Given the description of an element on the screen output the (x, y) to click on. 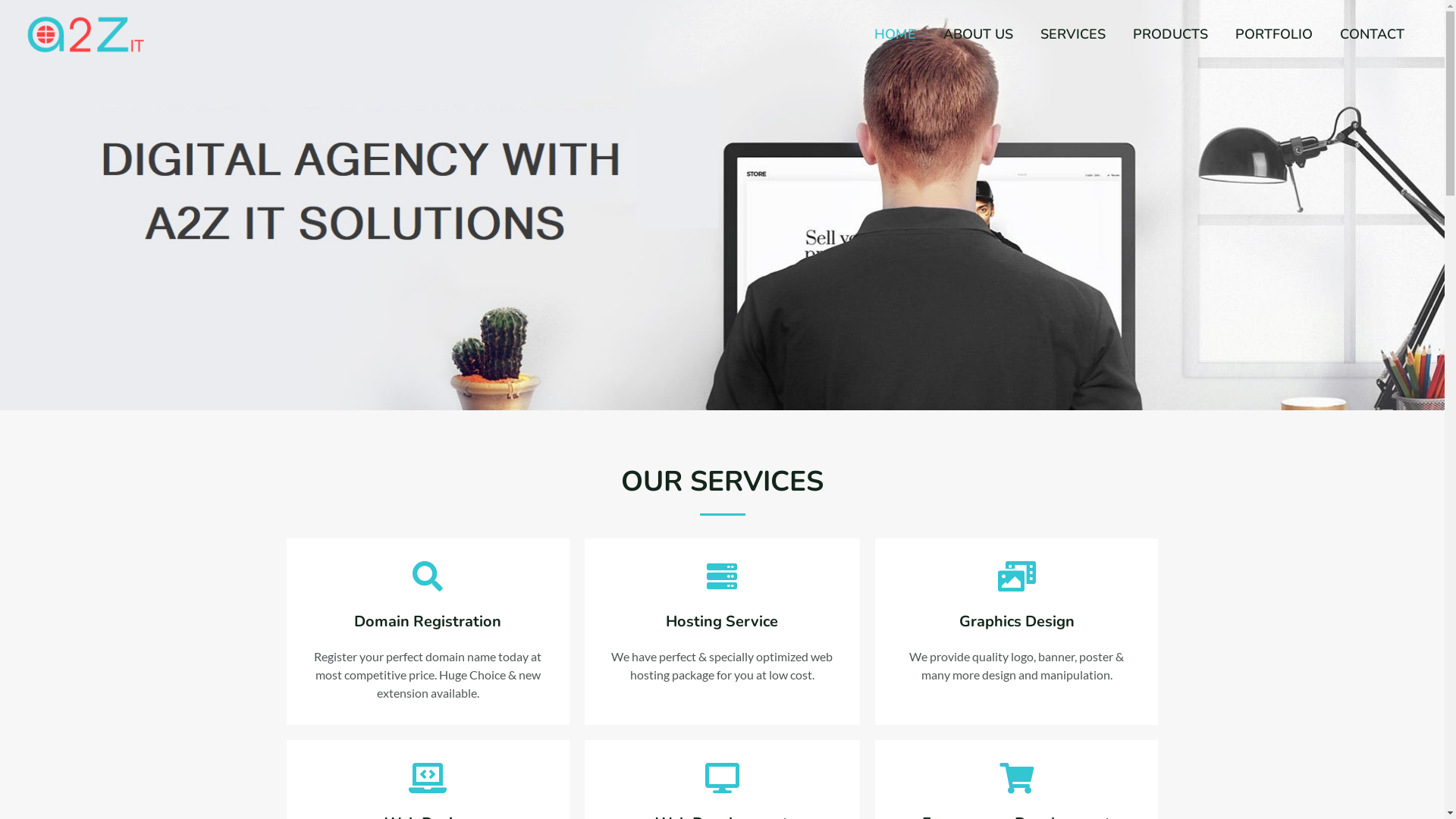
SERVICES Element type: text (1072, 34)
CONTACT Element type: text (1372, 34)
PRODUCTS Element type: text (1170, 34)
ABOUT US Element type: text (977, 34)
PORTFOLIO Element type: text (1273, 34)
HOME Element type: text (894, 34)
